Given the description of an element on the screen output the (x, y) to click on. 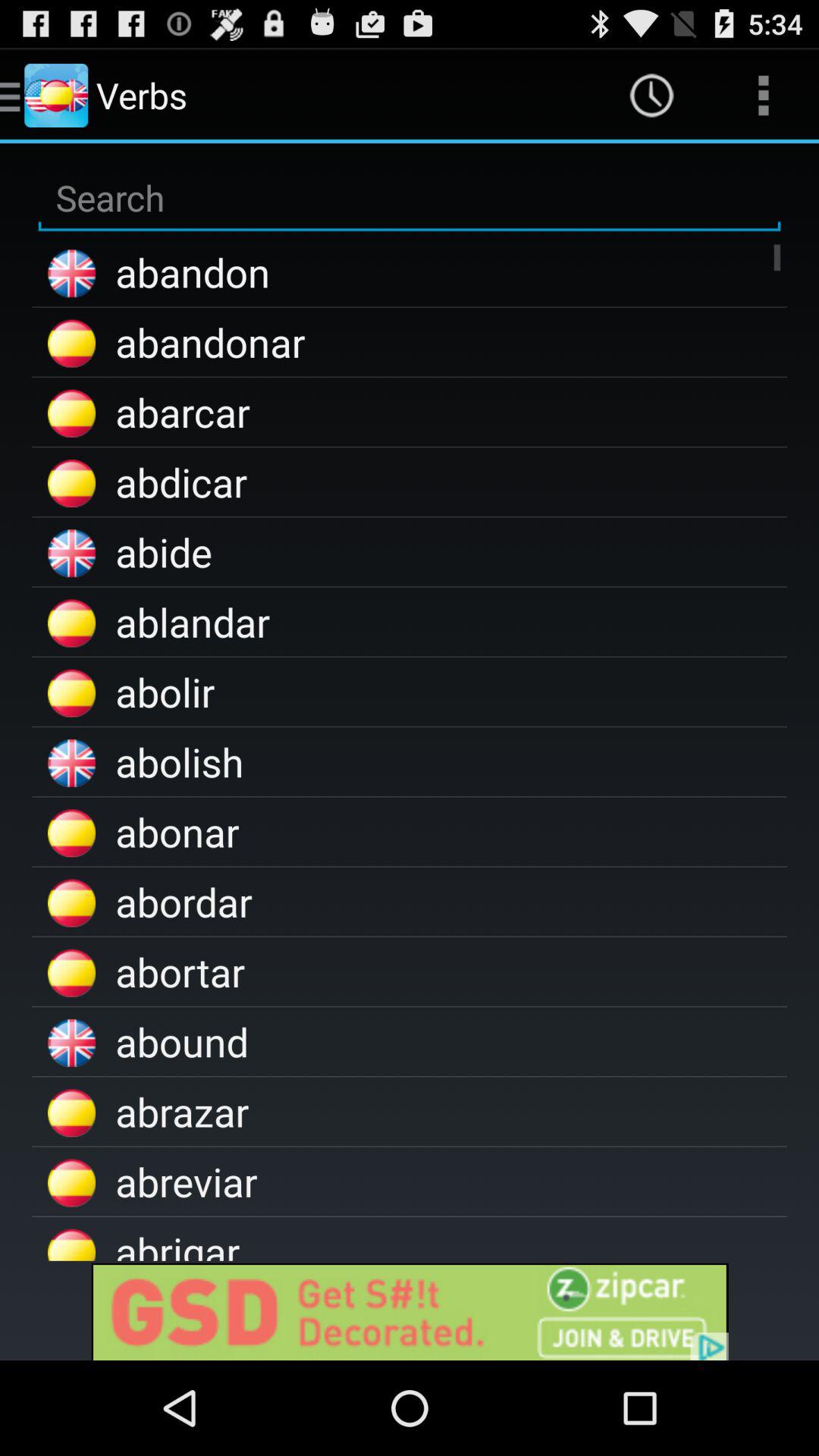
go to the advertised site (409, 1310)
